Given the description of an element on the screen output the (x, y) to click on. 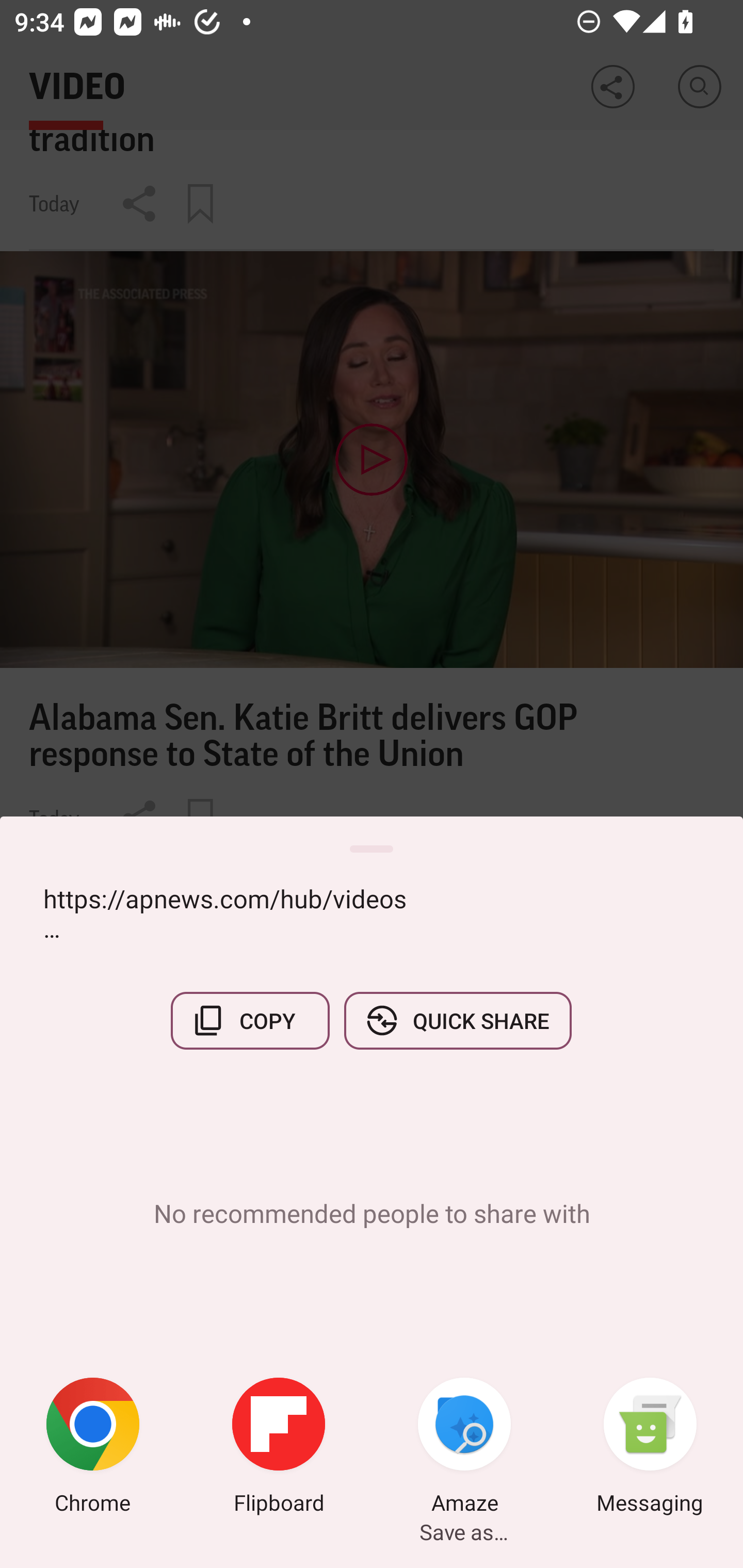
COPY (249, 1020)
QUICK SHARE (457, 1020)
Chrome (92, 1448)
Flipboard (278, 1448)
Amaze Save as… (464, 1448)
Messaging (650, 1448)
